Given the description of an element on the screen output the (x, y) to click on. 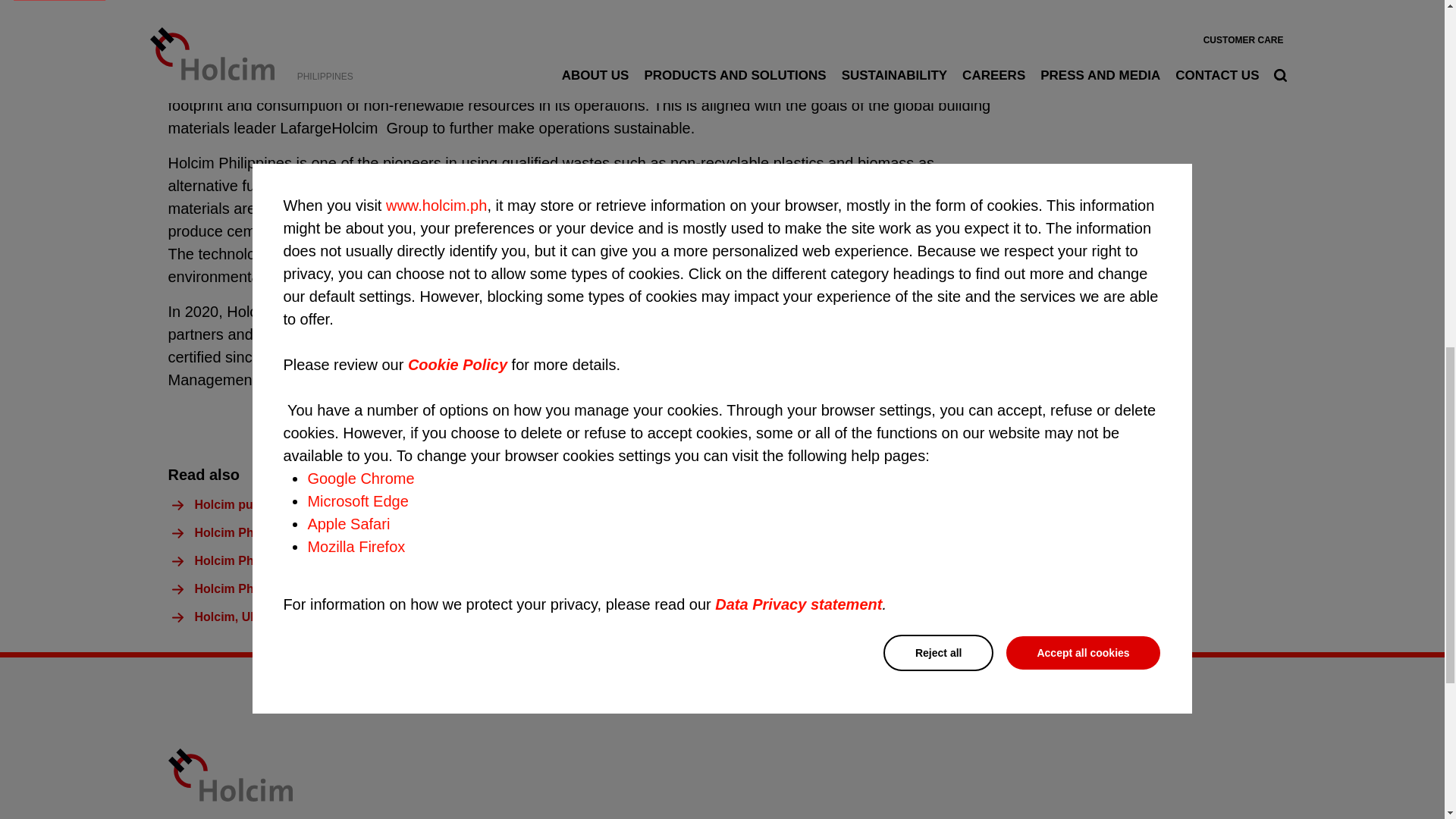
Holcim Philippines launches green cement ECOPlanet (349, 560)
